Given the description of an element on the screen output the (x, y) to click on. 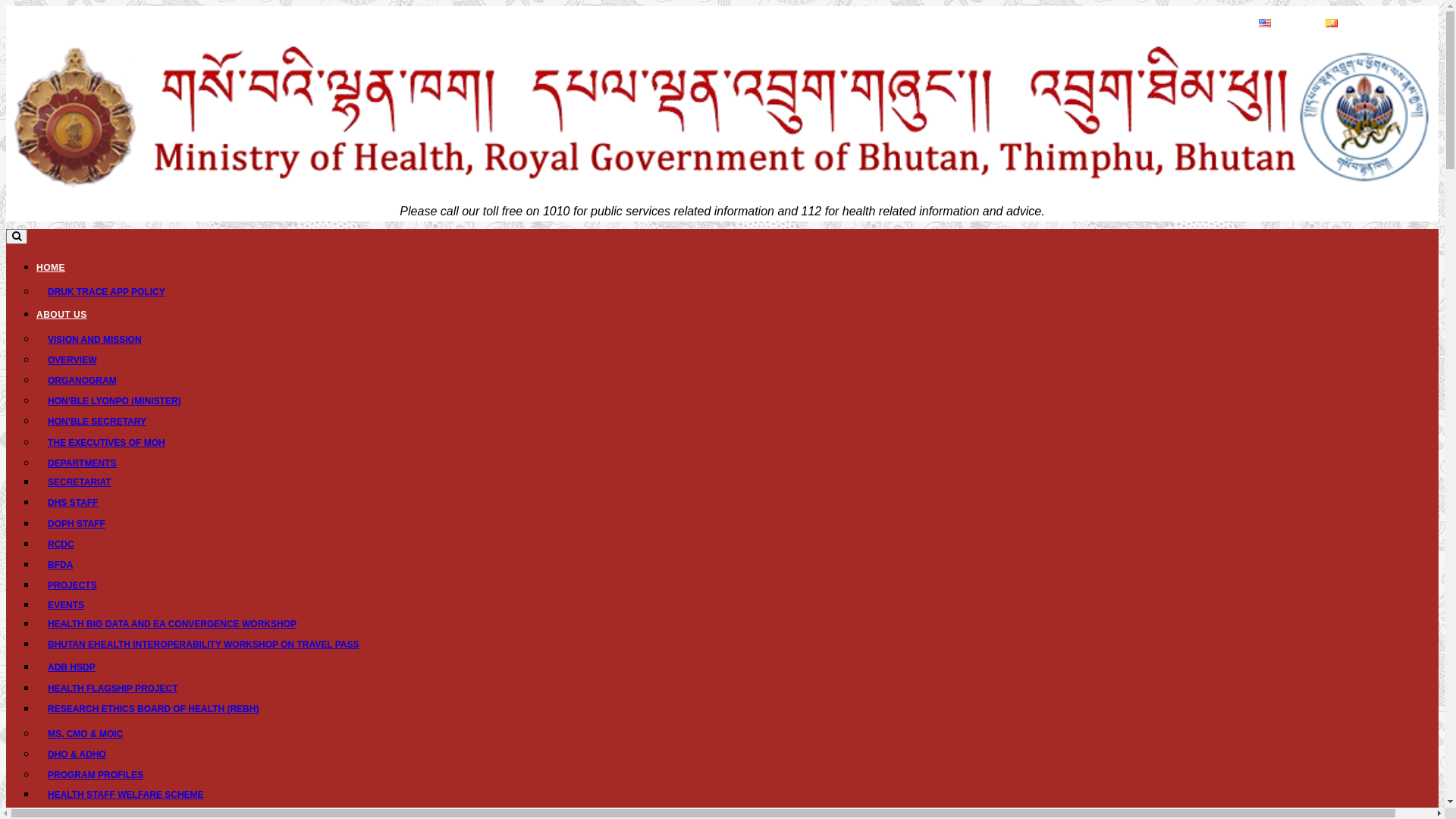
HEALTH FLAGSHIP PROJECT Element type: text (120, 688)
THE EXECUTIVES OF MOH Element type: text (106, 442)
Toggle search Element type: text (16, 236)
RESEARCH ETHICS BOARD OF HEALTH (REBH) Element type: text (160, 708)
PROGRAM PROFILES Element type: text (95, 774)
HEALTH STAFF WELFARE SCHEME Element type: text (133, 794)
ABOUT US Element type: text (61, 314)
BFDA Element type: text (67, 564)
HOME Element type: text (50, 267)
DEPARTMENTS Element type: text (81, 463)
DHO & ADHO Element type: text (76, 754)
DOPH STAFF Element type: text (83, 523)
DRUK TRACE APP POLICY Element type: text (106, 291)
BHUTAN EHEALTH INTEROPERABILITY WORKSHOP ON TRAVEL PASS Element type: text (210, 644)
SECRETARIAT Element type: text (87, 482)
DHS STAFF Element type: text (80, 502)
PROJECTS Element type: text (79, 585)
ORGANOGRAM Element type: text (82, 380)
MS, CMO & MOIC Element type: text (85, 733)
RCDC Element type: text (68, 544)
English Element type: text (1282, 22)
A Element type: text (1408, 19)
EVENTS Element type: text (73, 605)
OVERVIEW Element type: text (71, 360)
HEALTH BIG DATA AND EA CONVERGENCE WORKSHOP Element type: text (179, 624)
ADB HSDP Element type: text (79, 667)
A- Element type: text (1390, 19)
A+ Element type: text (1428, 19)
VISION AND MISSION Element type: text (94, 339)
